Given the description of an element on the screen output the (x, y) to click on. 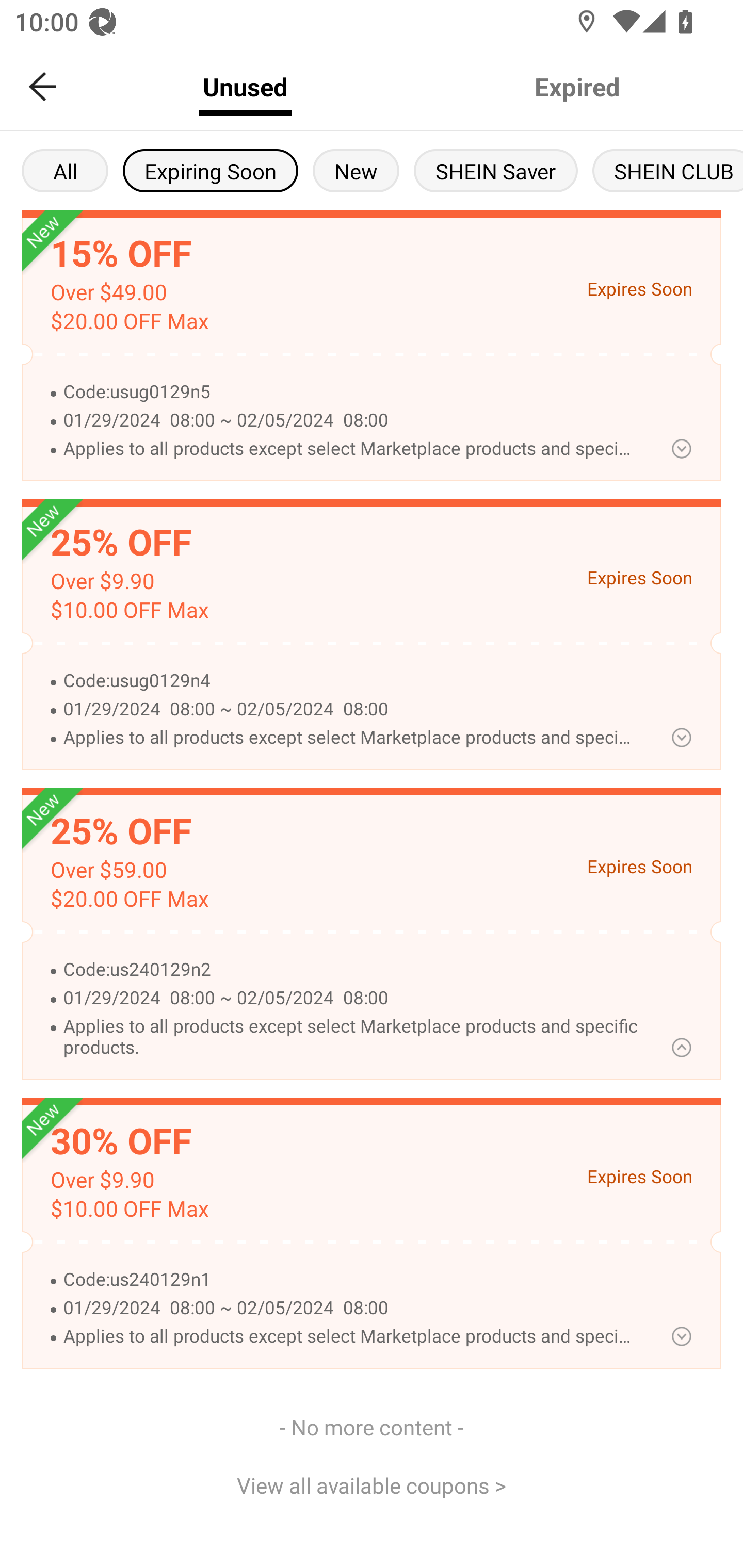
Unused (244, 86)
Expired (576, 86)
All (64, 170)
Expiring Soon (209, 170)
New (355, 170)
SHEIN Saver (495, 170)
SHEIN CLUB (667, 170)
$20.00 OFF Max (129, 320)
Code:usug0129n5 (350, 391)
01/29/2024  08:00 ~ 02/05/2024  08:00 (350, 420)
view more (681, 448)
$10.00 OFF Max (129, 609)
Code:usug0129n4 (350, 681)
01/29/2024  08:00 ~ 02/05/2024  08:00 (350, 709)
view more (681, 737)
$20.00 OFF Max (129, 898)
Code:us240129n2 (350, 969)
01/29/2024  08:00 ~ 02/05/2024  08:00 (350, 997)
Pack up (681, 1047)
$10.00 OFF Max (129, 1208)
Code:us240129n1 (350, 1280)
01/29/2024  08:00 ~ 02/05/2024  08:00 (350, 1308)
view more (681, 1335)
View all available coupons > (371, 1485)
